Given the description of an element on the screen output the (x, y) to click on. 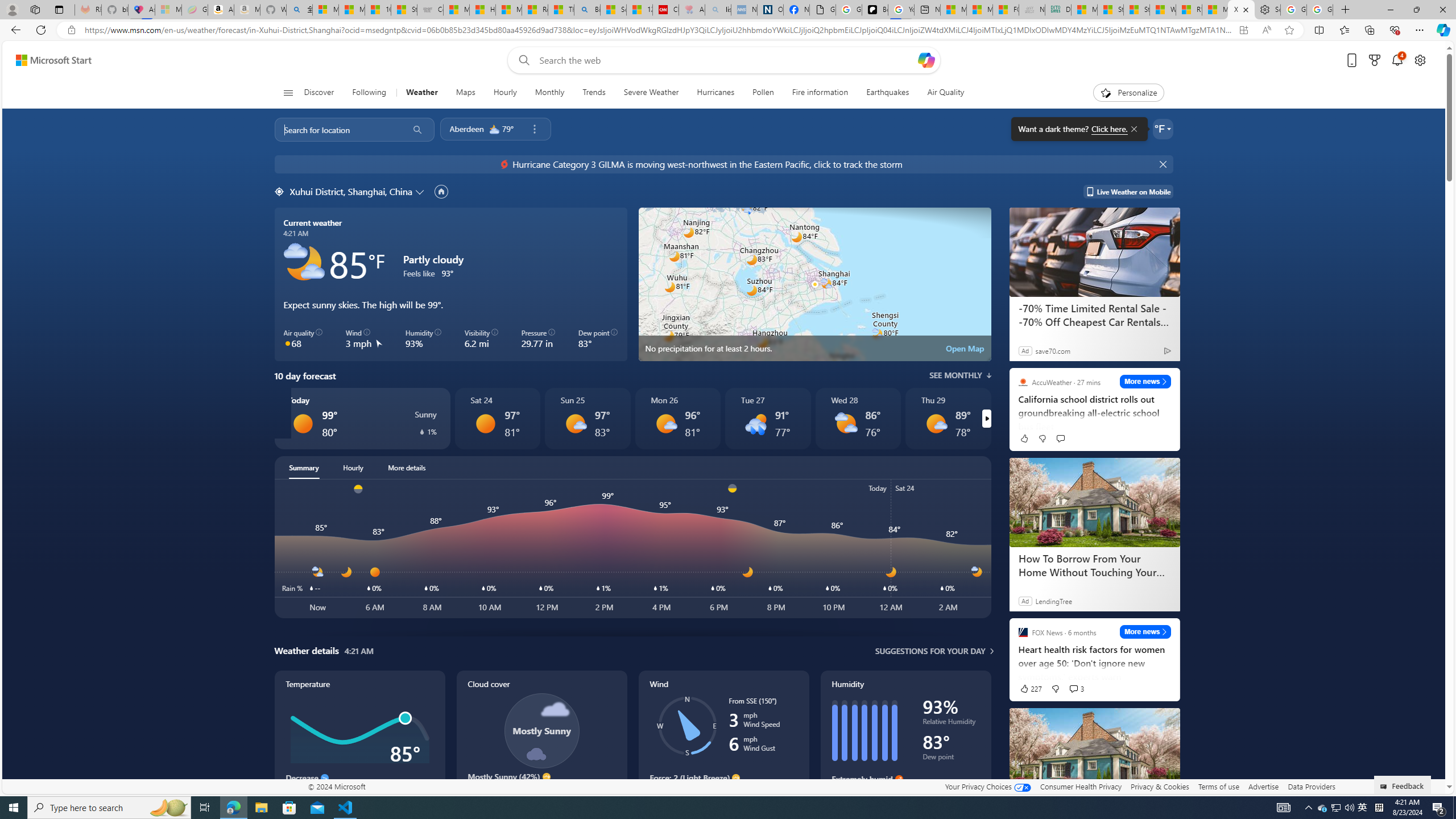
Data Providers (1311, 786)
Class: miniMapRadarSVGView-DS-EntryPoint1-1 (814, 284)
LendingTree (1053, 601)
Be Smart | creating Science videos | Patreon (874, 9)
Join us in planting real trees to help our planet! (23, 184)
